Given the description of an element on the screen output the (x, y) to click on. 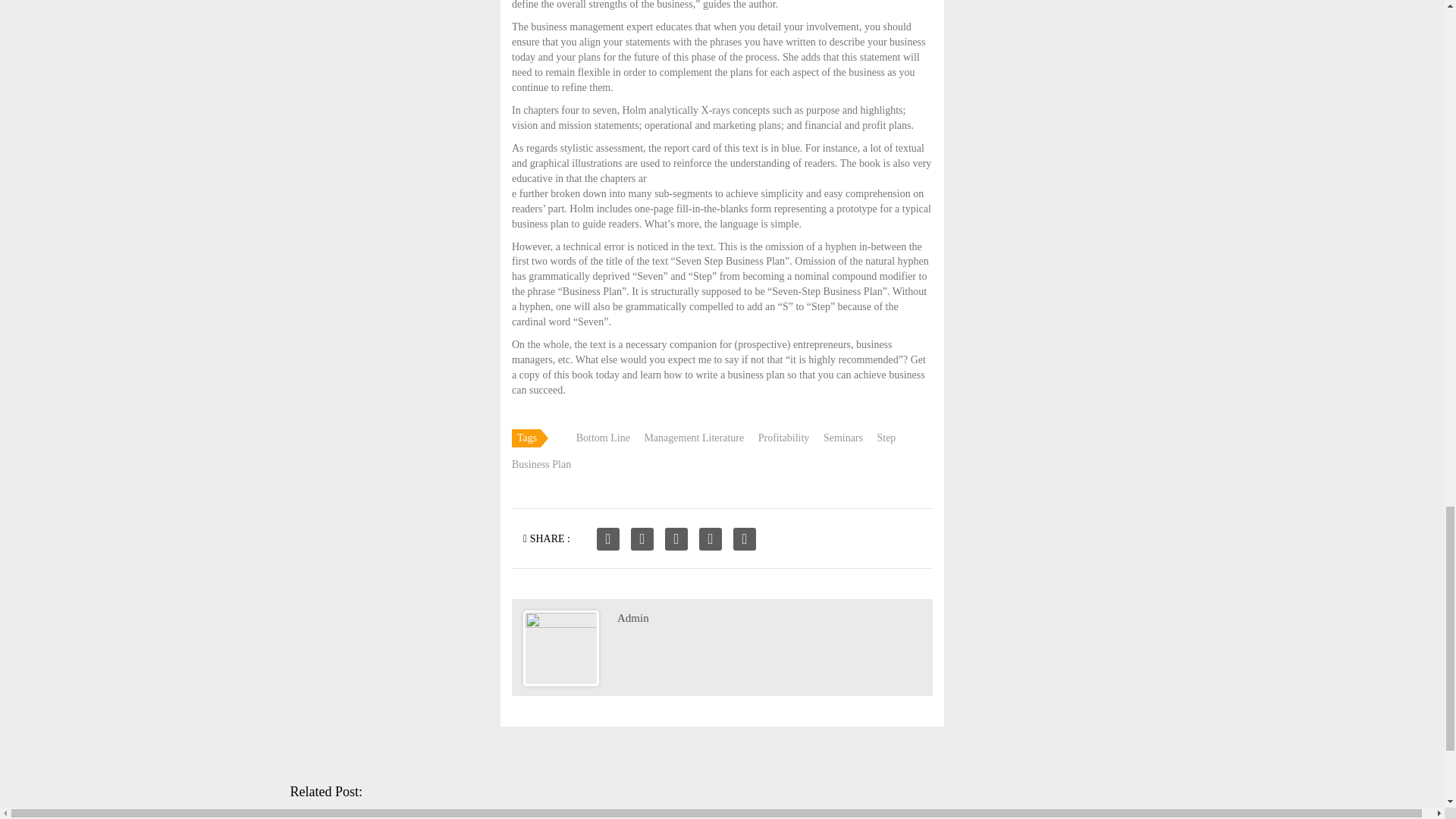
Share on Facebook (608, 538)
Posts by Admin (633, 617)
